Given the description of an element on the screen output the (x, y) to click on. 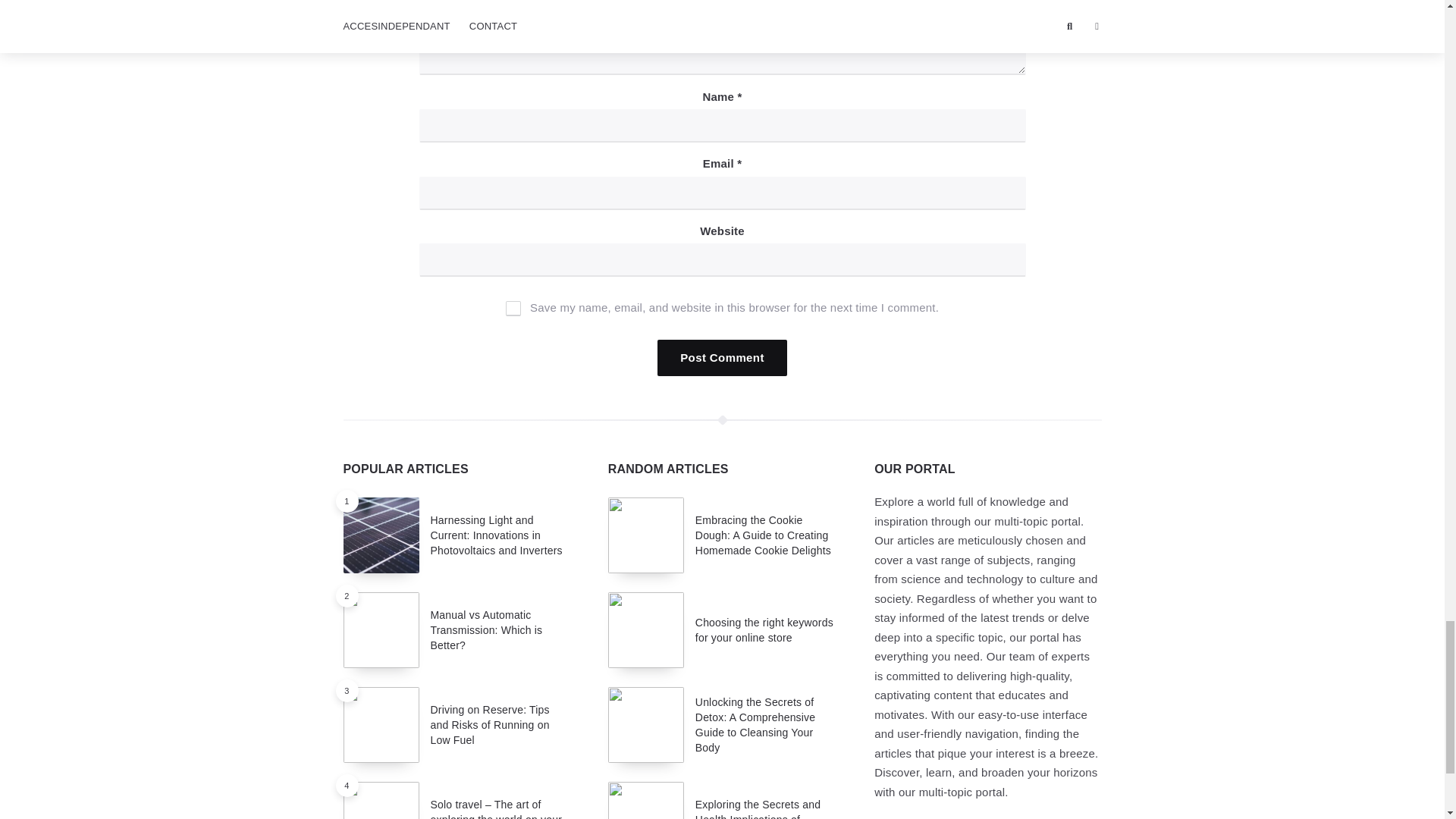
Choosing the right keywords for your online store (763, 629)
Manual vs Automatic Transmission: Which is Better? (486, 630)
Post comment (722, 357)
yes (513, 308)
Post comment (722, 357)
Driving on Reserve: Tips and Risks of Running on Low Fuel (490, 724)
